Given the description of an element on the screen output the (x, y) to click on. 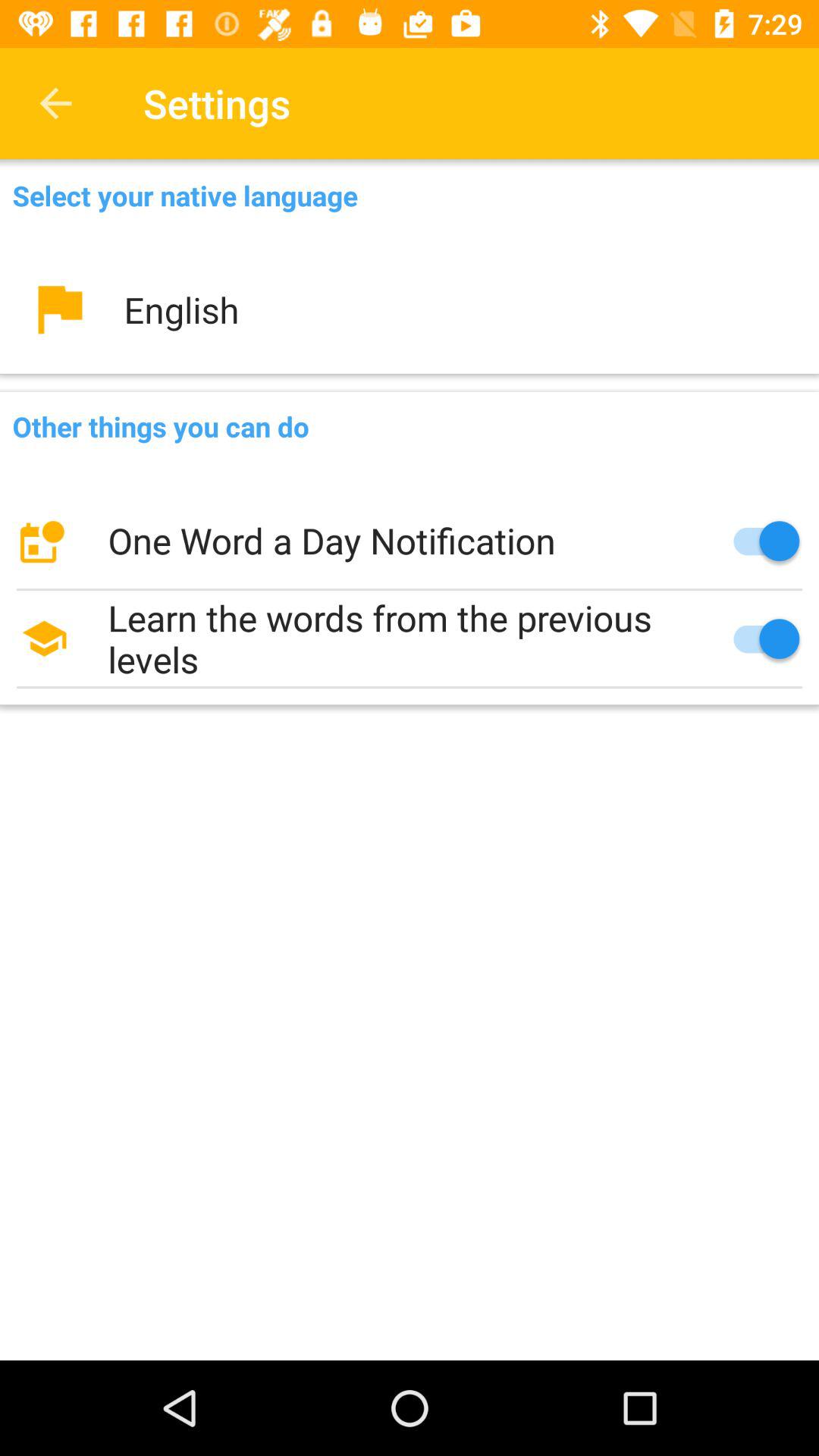
turn off the english (409, 309)
